Given the description of an element on the screen output the (x, y) to click on. 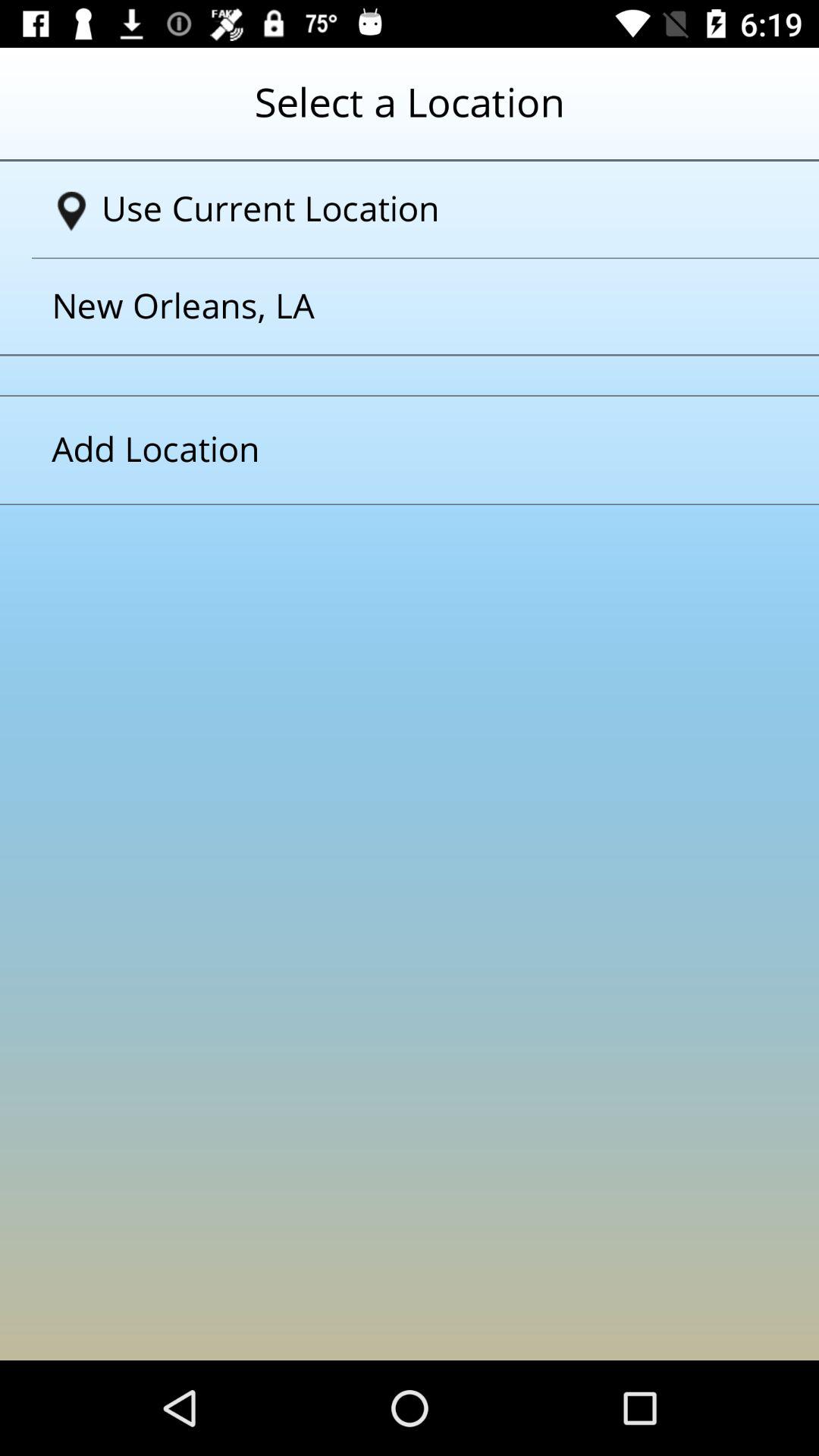
select the location icon which is before use current location (71, 211)
select new orleans la which is above the add location (390, 307)
click on use current location (415, 209)
